Given the description of an element on the screen output the (x, y) to click on. 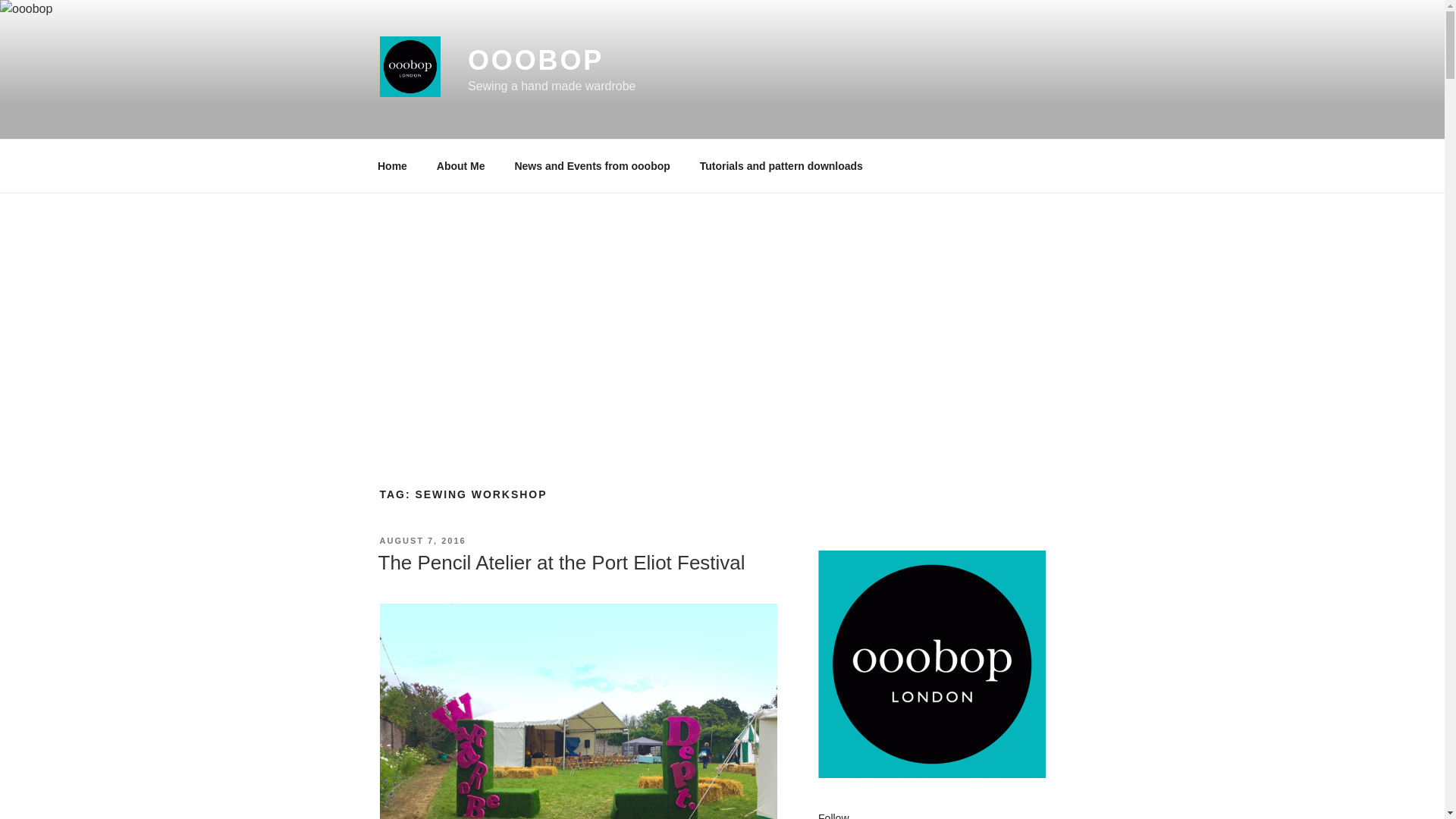
Home (392, 165)
Home (392, 165)
About Me (460, 165)
Tutorials and pattern downloads (780, 165)
Follow (833, 815)
News and Events from ooobop (591, 165)
AUGUST 7, 2016 (421, 540)
Tutorials and pattern downloads (780, 165)
The Pencil Atelier at the Port Eliot Festival (560, 562)
OOOBOP (535, 60)
